Given the description of an element on the screen output the (x, y) to click on. 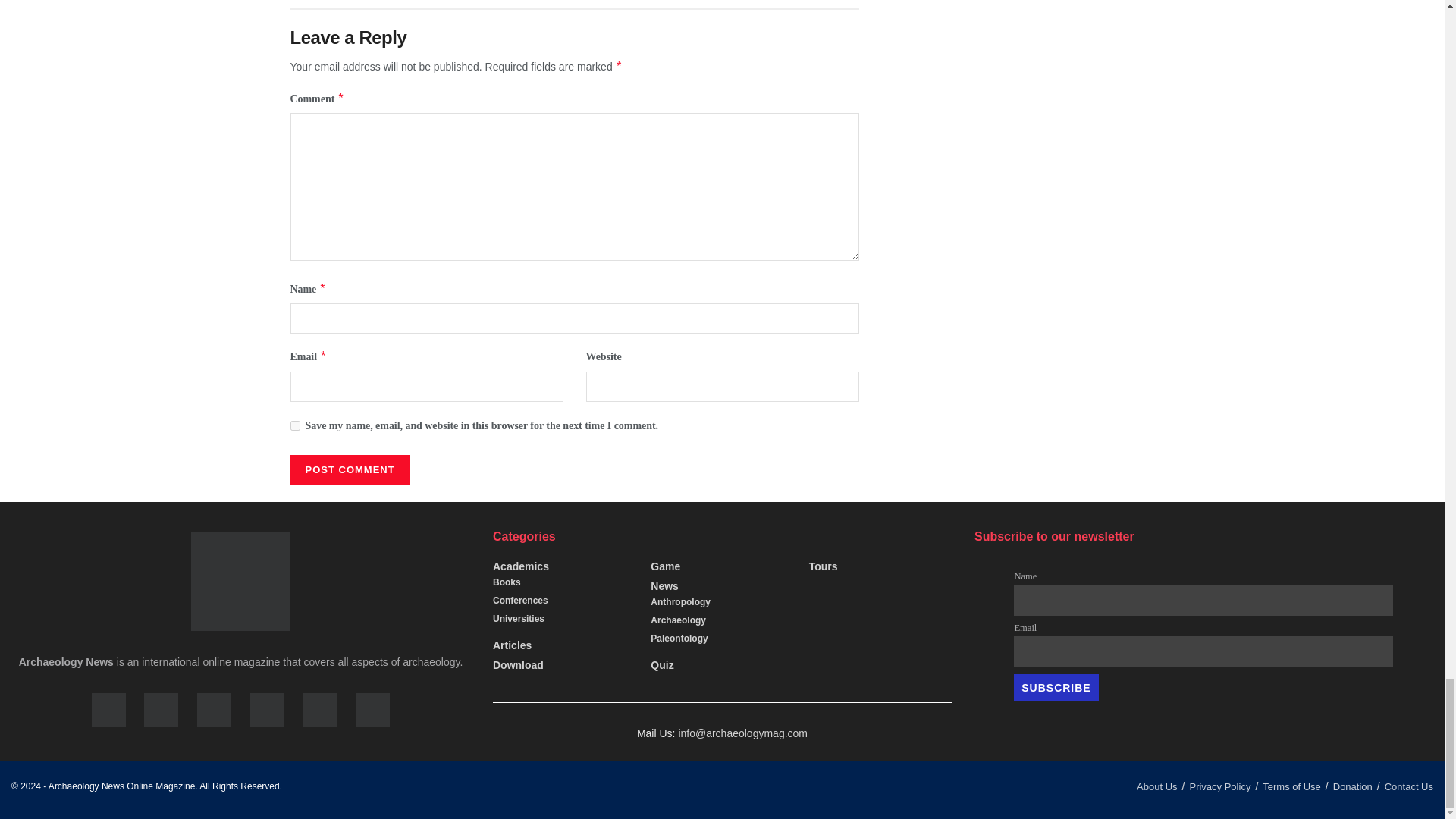
Post Comment (349, 470)
yes (294, 425)
Subscribe (1055, 687)
